Given the description of an element on the screen output the (x, y) to click on. 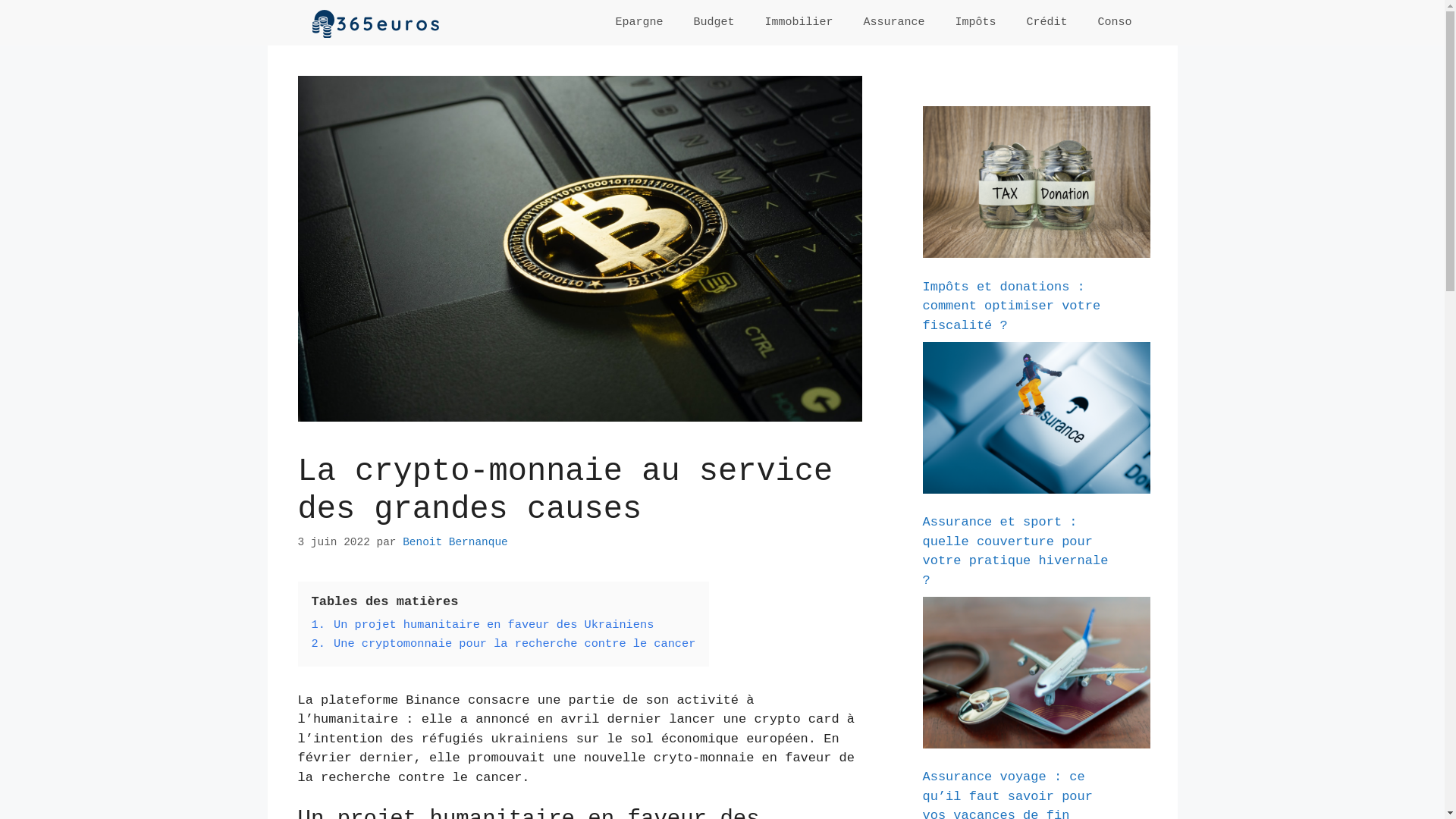
Immobilier Element type: text (798, 22)
Benoit Bernanque Element type: text (455, 542)
Budget Element type: text (713, 22)
Epargne Element type: text (638, 22)
Assurance Element type: text (893, 22)
Conso Element type: text (1114, 22)
1. Un projet humanitaire en faveur des Ukrainiens Element type: text (481, 624)
2. Une cryptomonnaie pour la recherche contre le cancer Element type: text (502, 643)
365EUROS Element type: hover (372, 22)
